Given the description of an element on the screen output the (x, y) to click on. 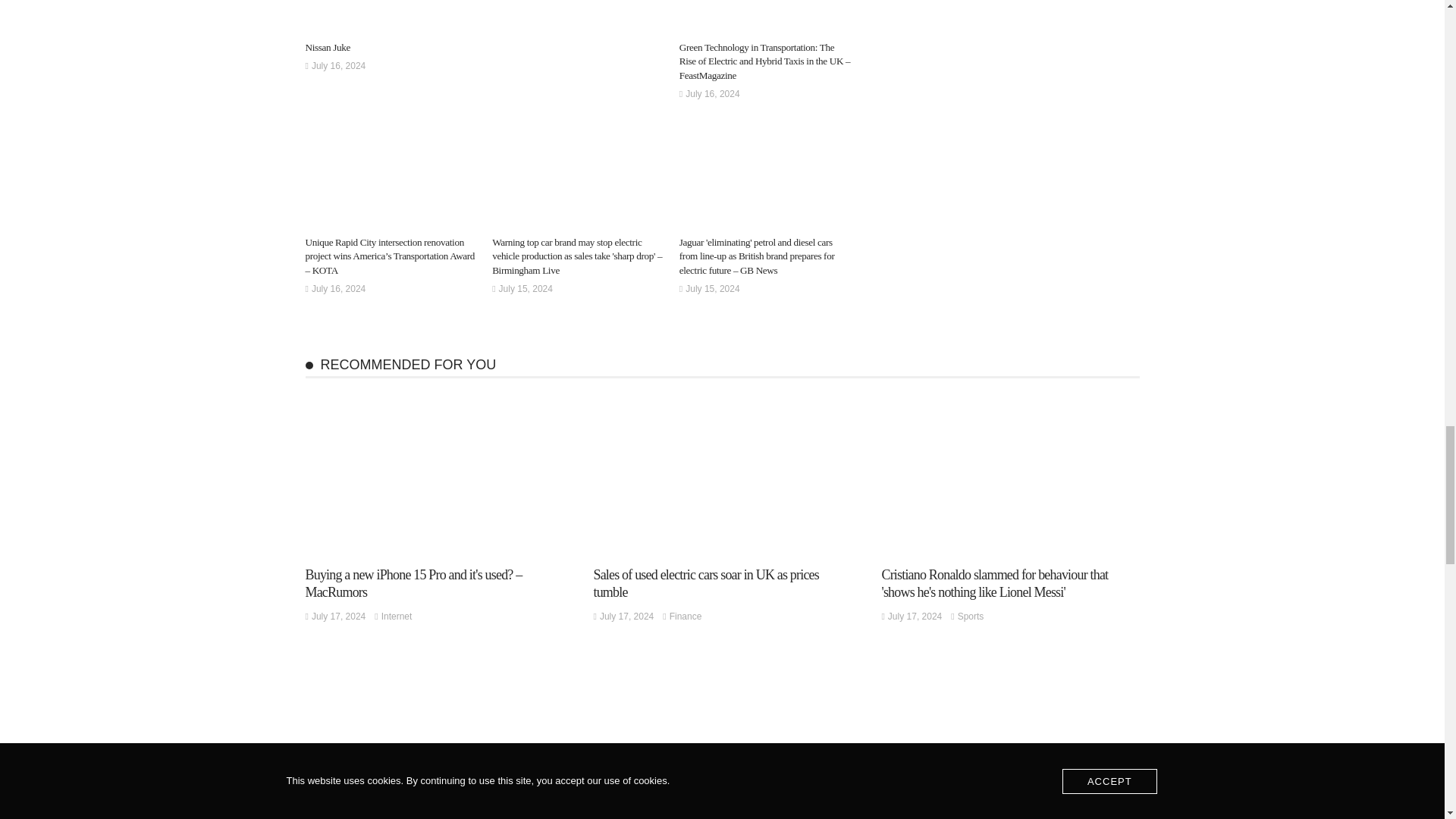
Nissan Juke (326, 47)
